Given the description of an element on the screen output the (x, y) to click on. 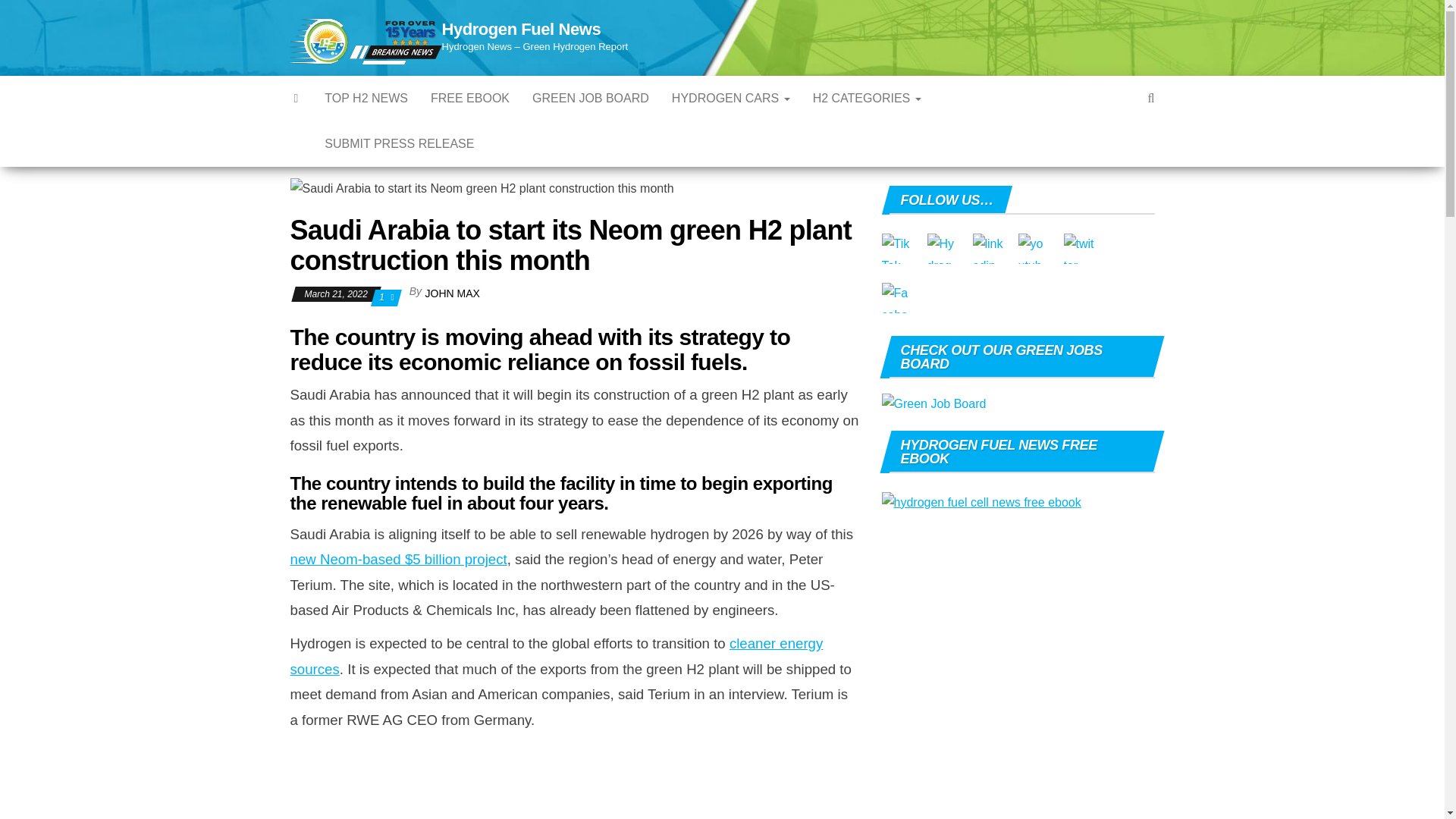
HYDROGEN CARS (731, 98)
Hydrogen Fuel News (520, 28)
H2 CATEGORIES (867, 98)
Top H2 News (366, 98)
FREE EBOOK (470, 98)
Hydrogen Cars (731, 98)
Free ebook (470, 98)
Green Job Board (591, 98)
TOP H2 NEWS (366, 98)
GREEN JOB BOARD (591, 98)
